Given the description of an element on the screen output the (x, y) to click on. 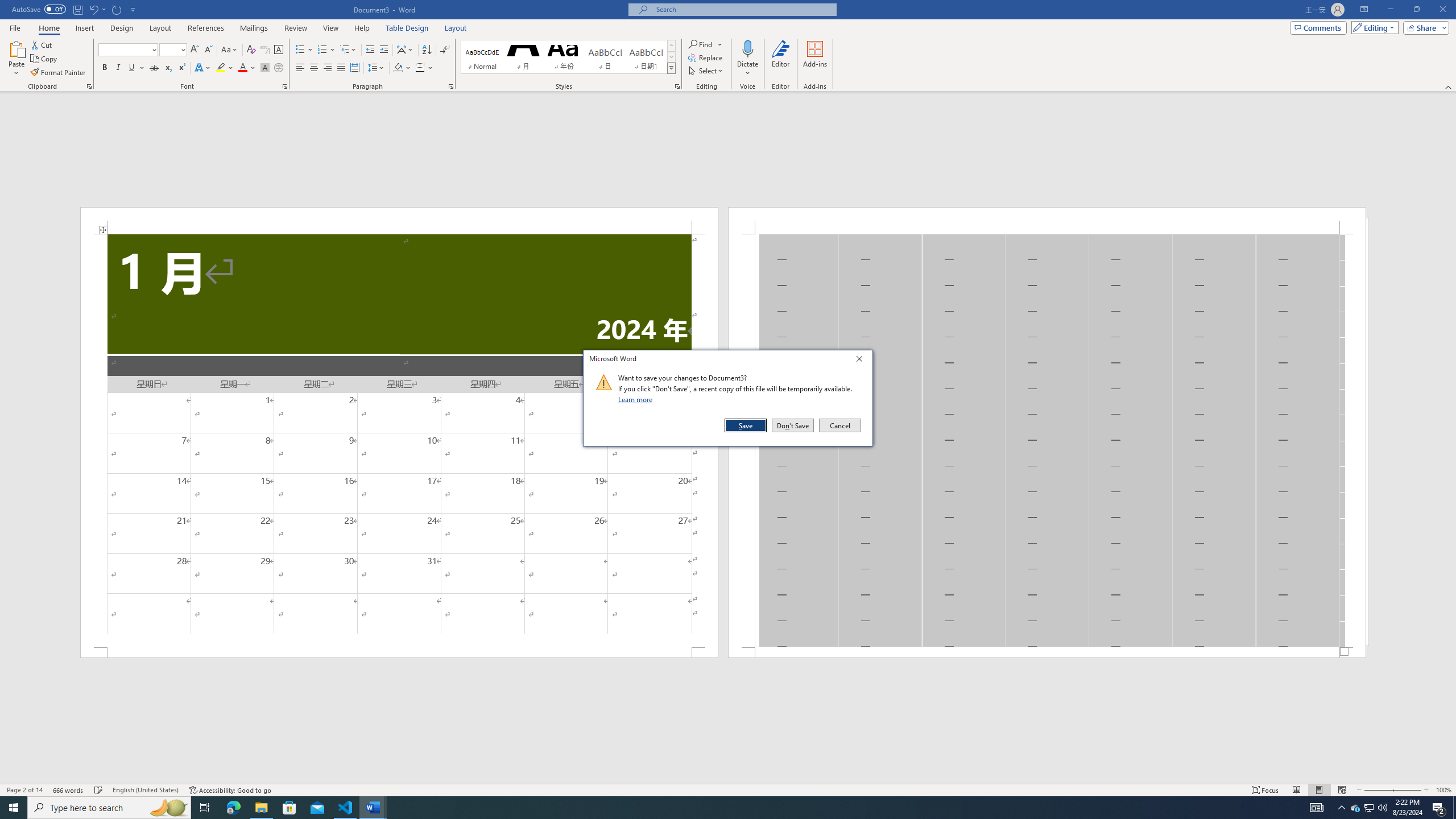
Undo Apply Quick Style (92, 9)
Font Color RGB(255, 0, 0) (241, 67)
